Given the description of an element on the screen output the (x, y) to click on. 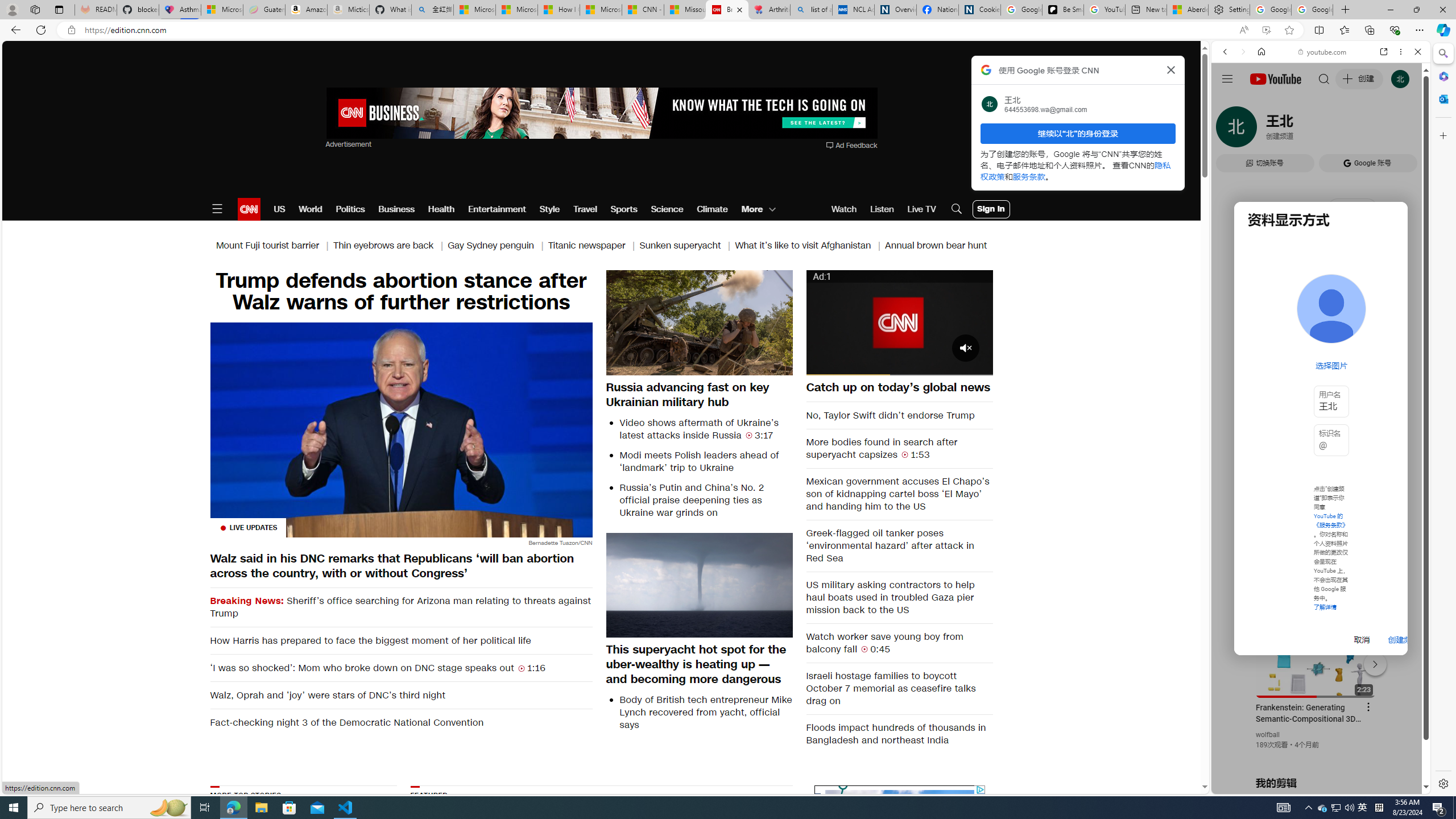
Pause (821, 365)
Microsoft-Report a Concern to Bing (221, 9)
Travel (584, 209)
Trailer #2 [HD] (1320, 337)
